Given the description of an element on the screen output the (x, y) to click on. 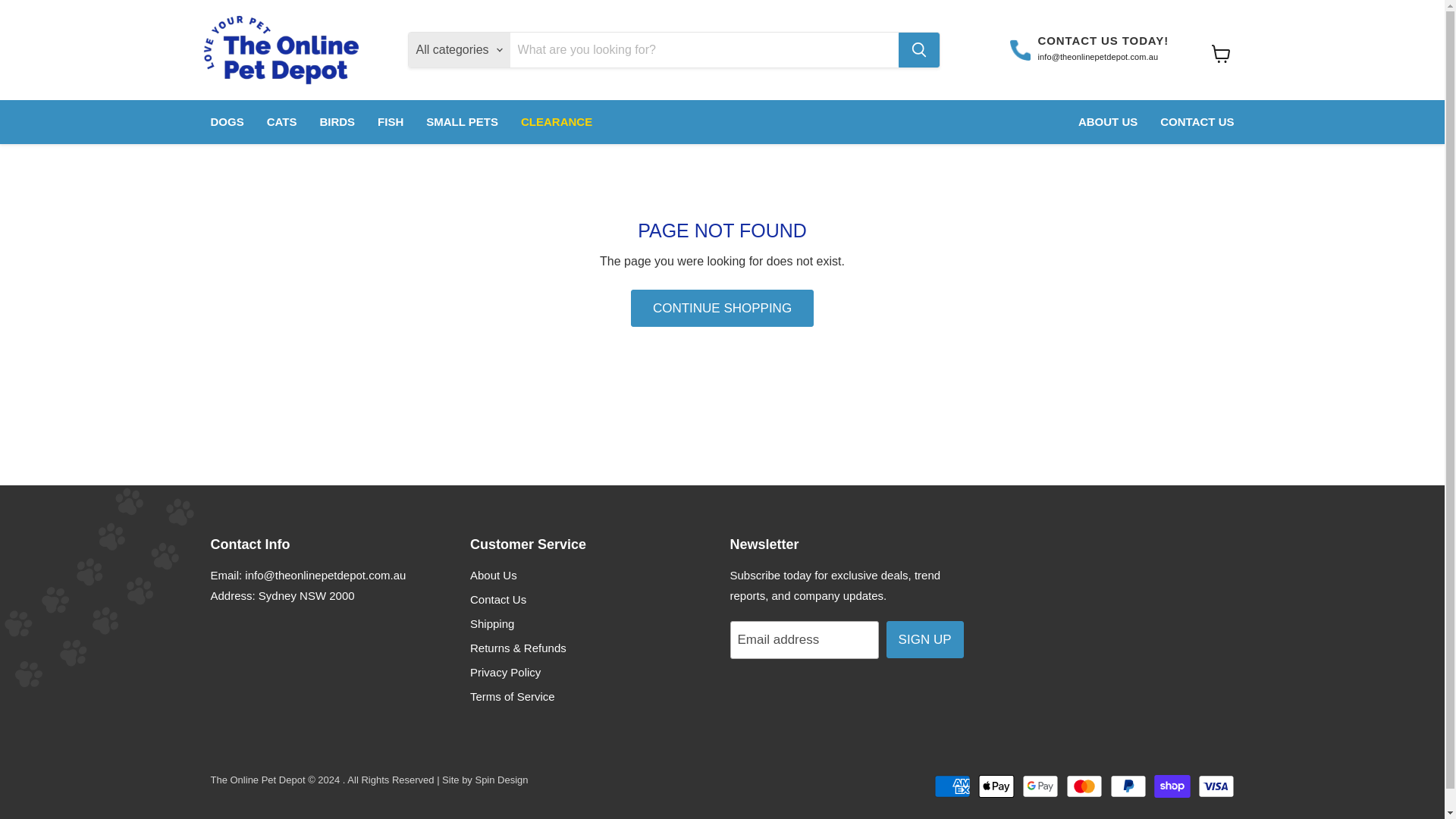
Shop Pay (1172, 785)
Apple Pay (996, 785)
Mastercard (1083, 785)
Shipping (491, 623)
Privacy Policy (505, 671)
PayPal (1128, 785)
DOGS (226, 122)
About Us (493, 574)
Terms of Service (512, 696)
